Given the description of an element on the screen output the (x, y) to click on. 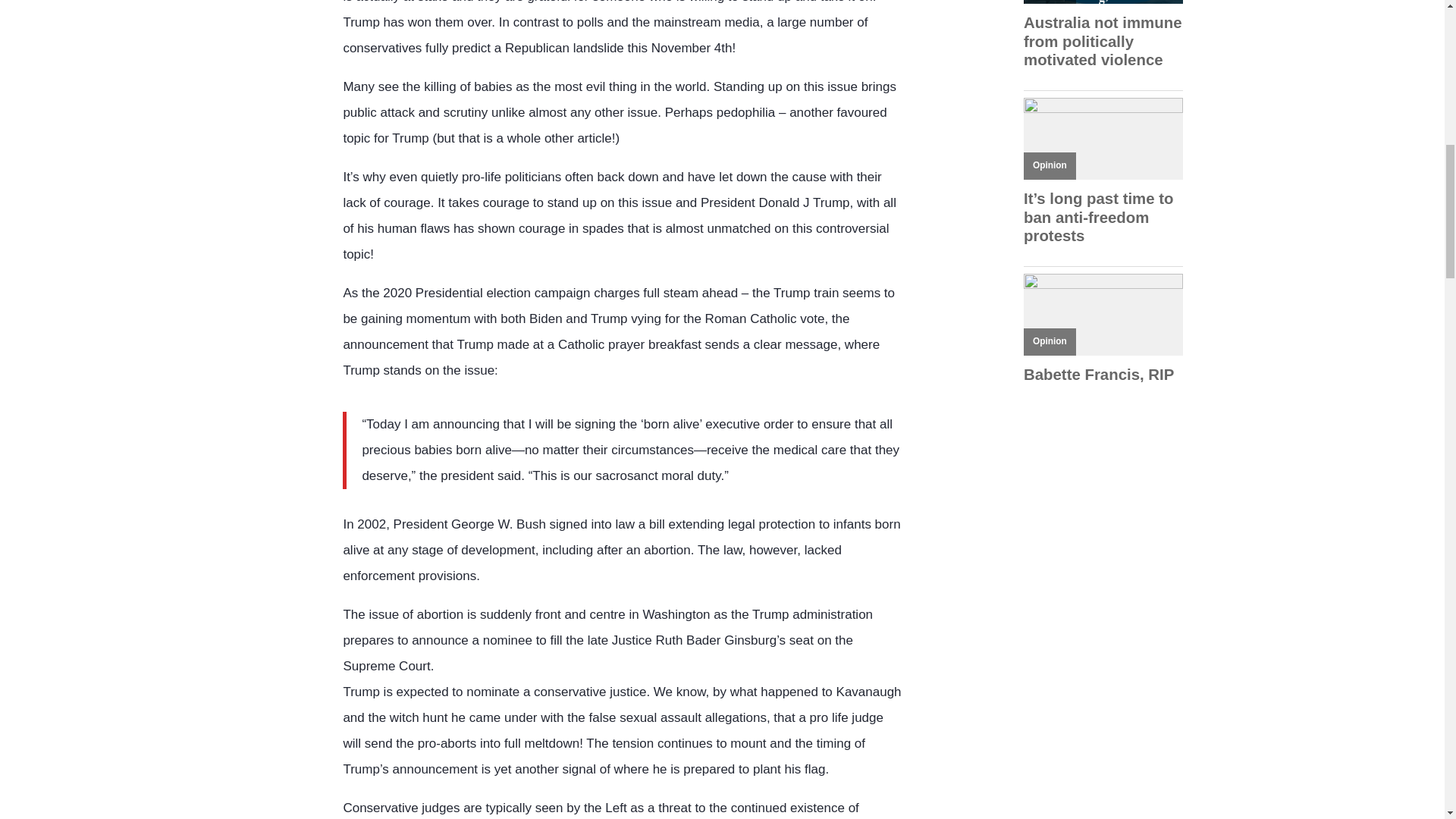
Opinion (1049, 340)
Opinion (1049, 164)
Australia not immune from politically motivated violence (1102, 40)
Babette Francis, RIP (1102, 374)
